Given the description of an element on the screen output the (x, y) to click on. 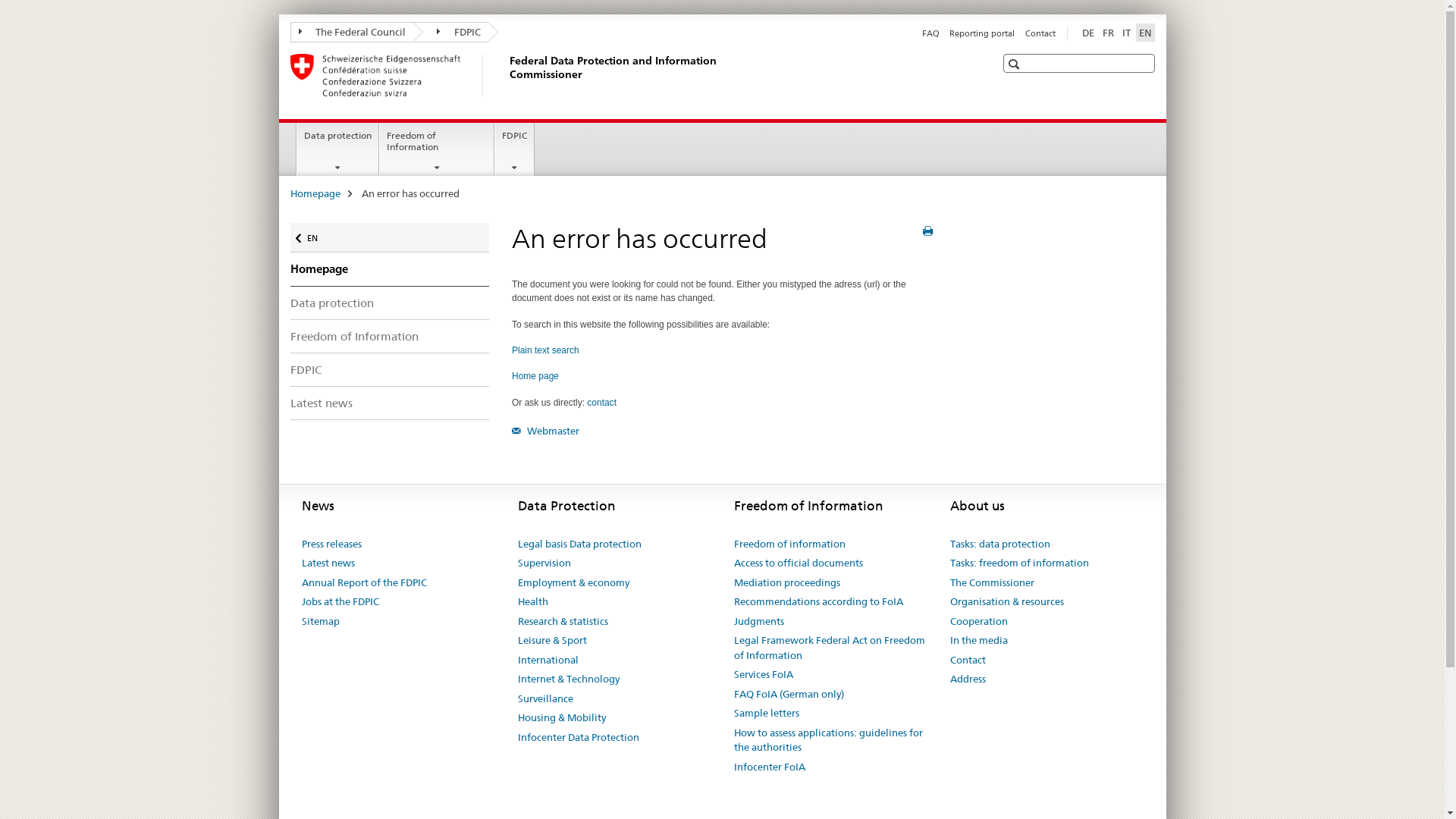
The Federal Council Element type: text (351, 31)
Homepage Element type: text (314, 193)
Homepage Element type: text (389, 268)
Freedom of Information Element type: text (436, 148)
Plain text search Element type: text (545, 350)
In the media Element type: text (978, 640)
Access to official documents Element type: text (798, 563)
Recommendations according to FoIA Element type: text (818, 601)
Address Element type: text (967, 679)
Tasks: data protection Element type: text (999, 544)
Home page Element type: text (534, 375)
Organisation & resources Element type: text (1006, 601)
EN Element type: text (1144, 32)
Supervision Element type: text (543, 563)
Data protection Element type: text (389, 302)
Latest news Element type: text (327, 563)
FDPIC Element type: text (450, 31)
Sitemap Element type: text (320, 621)
FDPIC Element type: text (389, 369)
Leisure & Sport Element type: text (551, 640)
Print this page Element type: hover (927, 230)
Legal Framework Federal Act on Freedom of Information Element type: text (830, 647)
Internet & Technology Element type: text (567, 679)
DE Element type: text (1087, 32)
Sample letters Element type: text (766, 713)
How to assess applications: guidelines for the authorities Element type: text (830, 740)
Reporting portal Element type: text (981, 33)
Contact Element type: text (967, 660)
Back
EN Element type: text (389, 237)
Contact Element type: text (1040, 33)
Judgments Element type: text (759, 621)
contact Element type: text (601, 402)
Tasks: freedom of information Element type: text (1018, 563)
Legal basis Data protection Element type: text (578, 544)
FDPIC Element type: text (514, 148)
Research & statistics Element type: text (562, 621)
Health Element type: text (532, 601)
Freedom of information Element type: text (789, 544)
Mediation proceedings Element type: text (787, 583)
Services FoIA Element type: text (763, 674)
International Element type: text (547, 660)
FR Element type: text (1108, 32)
IT Element type: text (1126, 32)
Data protection Element type: text (337, 148)
Latest news Element type: text (389, 402)
Infocenter FoIA Element type: text (769, 767)
The Commissioner Element type: text (991, 583)
Press releases Element type: text (331, 544)
Jobs at the FDPIC Element type: text (340, 601)
Employment & economy Element type: text (572, 583)
Webmaster Element type: text (545, 430)
FAQ Element type: text (930, 33)
Cooperation Element type: text (978, 621)
Infocenter Data Protection Element type: text (577, 737)
Annual Report of the FDPIC Element type: text (363, 583)
Housing & Mobility Element type: text (561, 718)
FAQ FoIA (German only) Element type: text (789, 694)
Freedom of Information Element type: text (389, 336)
Surveillance Element type: text (544, 699)
Federal Data Protection and Information Commissioner Element type: text (505, 74)
